Given the description of an element on the screen output the (x, y) to click on. 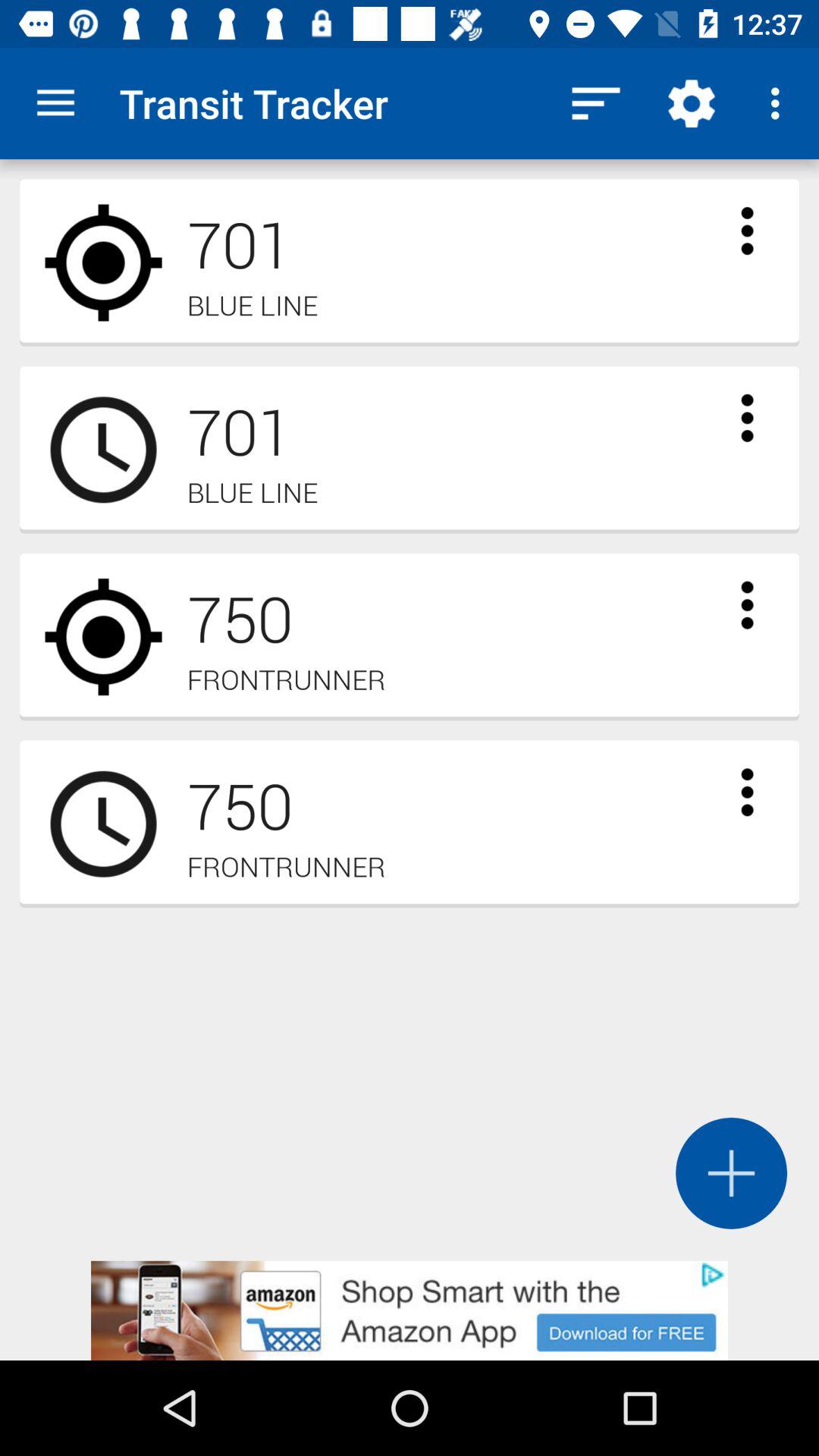
see more options (747, 792)
